Given the description of an element on the screen output the (x, y) to click on. 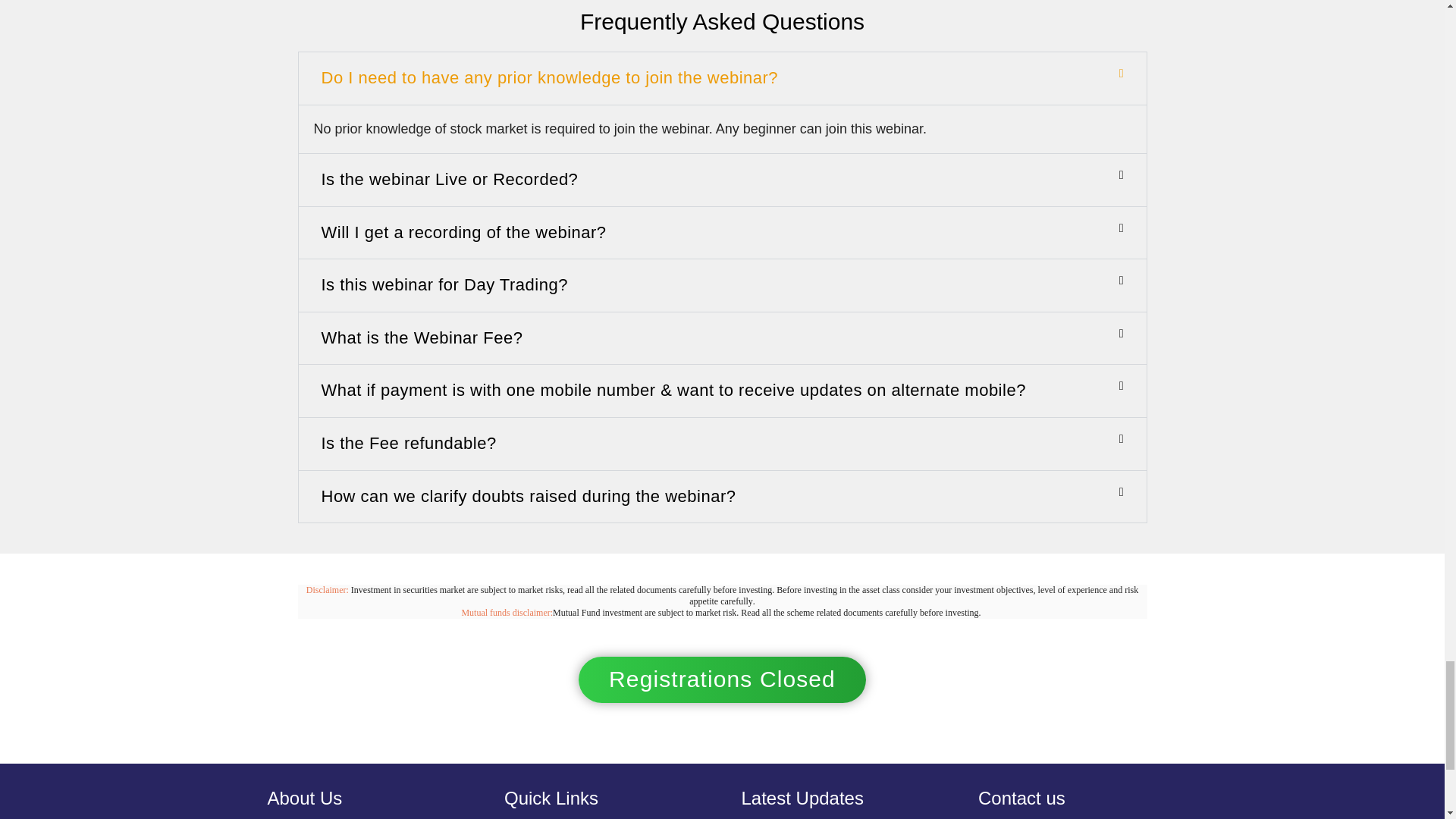
Do I need to have any prior knowledge to join the webinar? (549, 76)
How can we clarify doubts raised during the webinar? (528, 496)
Is this webinar for Day Trading? (444, 284)
Is the webinar Live or Recorded? (449, 179)
What is the Webinar Fee? (421, 337)
Will I get a recording of the webinar? (464, 231)
Is the Fee refundable? (408, 443)
